Given the description of an element on the screen output the (x, y) to click on. 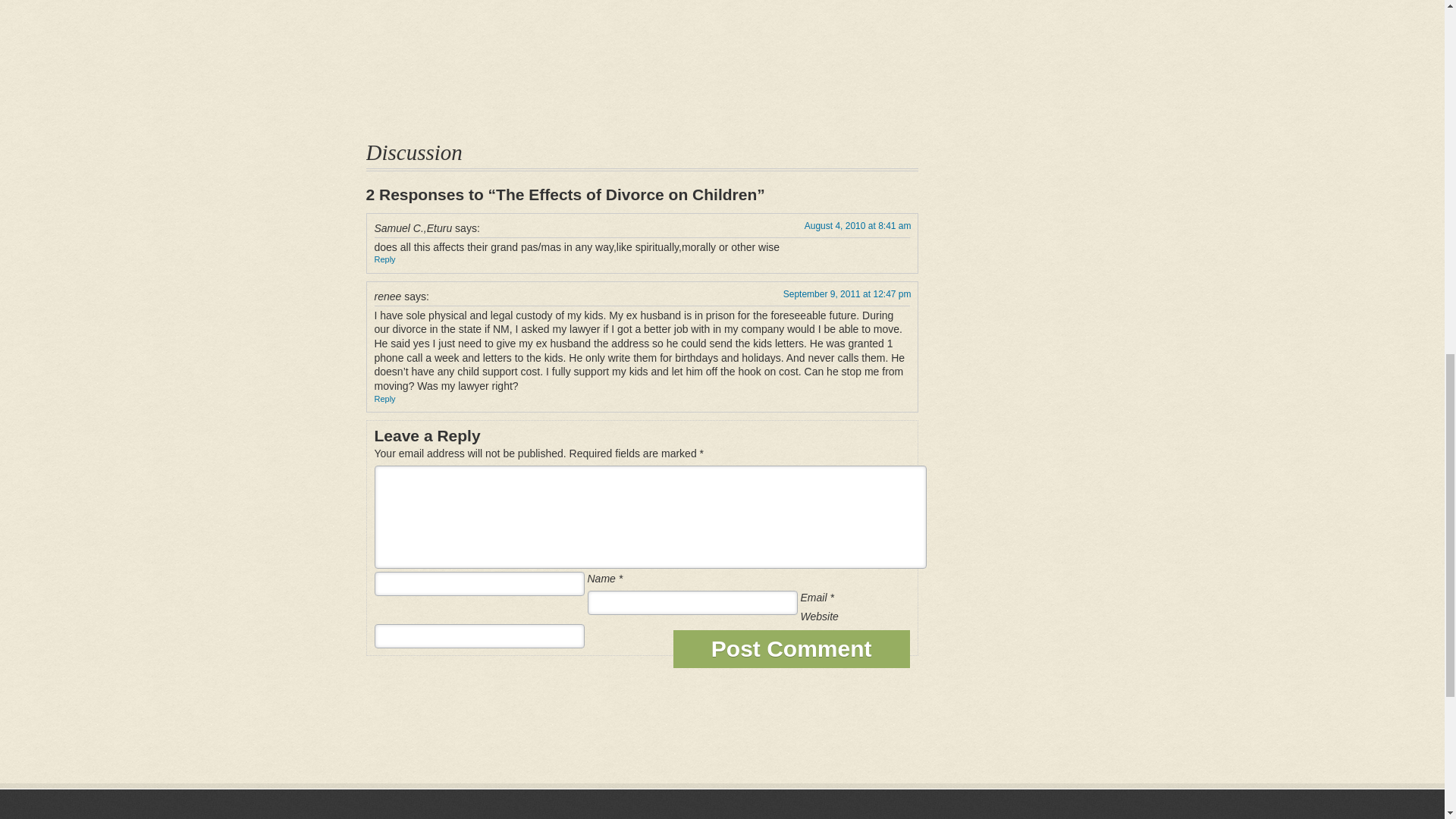
August 4, 2010 at 8:41 am (858, 225)
Reply (385, 258)
September 9, 2011 at 12:47 pm (847, 294)
Post Comment (791, 648)
Reply (385, 398)
Post Comment (791, 648)
